Given the description of an element on the screen output the (x, y) to click on. 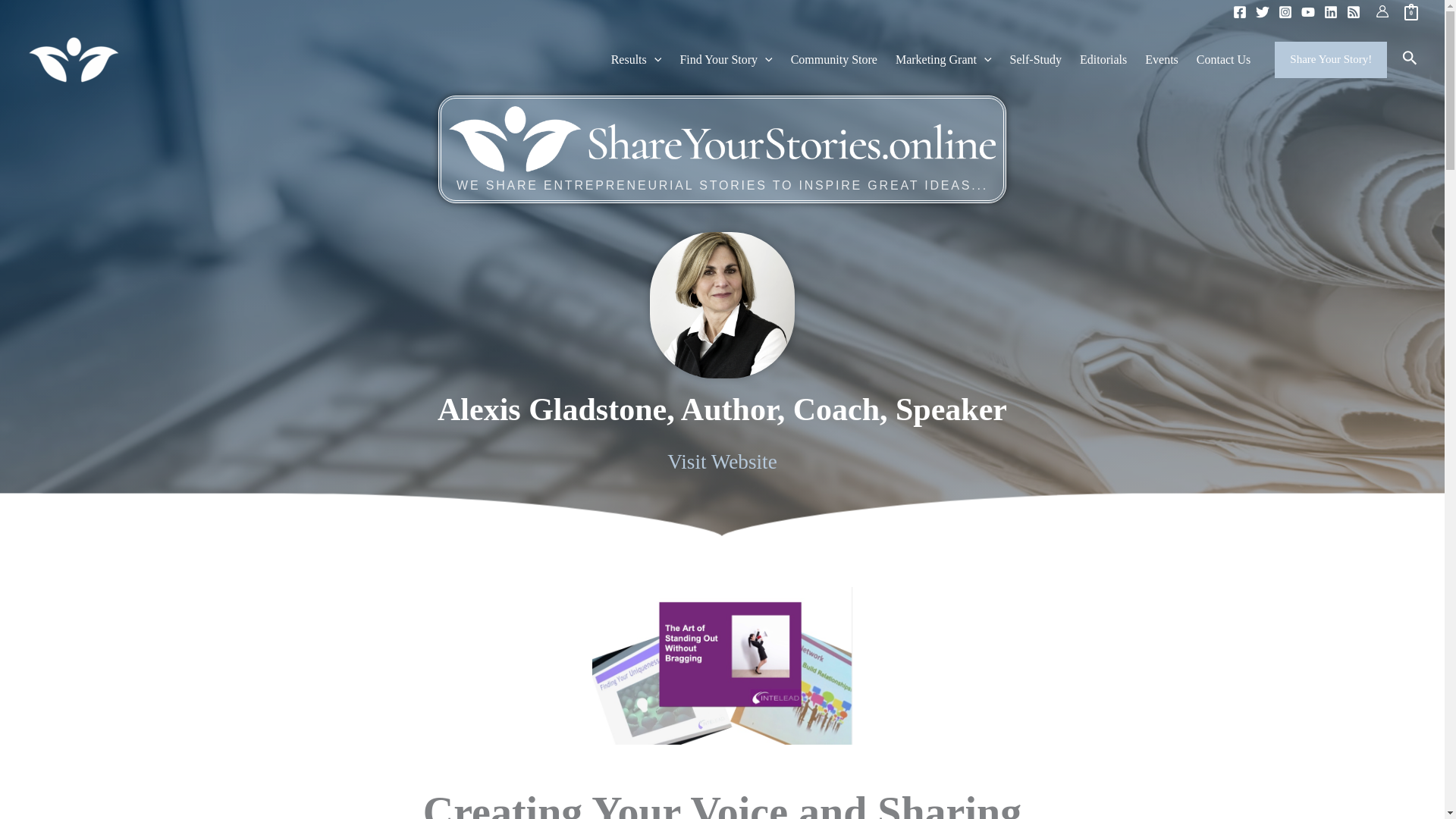
Events (1161, 59)
Marketing Grant (943, 59)
Find Your Story (724, 59)
Editorials (1102, 59)
Self-Study (1035, 59)
Community Store (833, 59)
0 (1411, 10)
Contact Us (1224, 59)
Share Your Story! (1331, 59)
Results (636, 59)
Visit Website (721, 461)
